Given the description of an element on the screen output the (x, y) to click on. 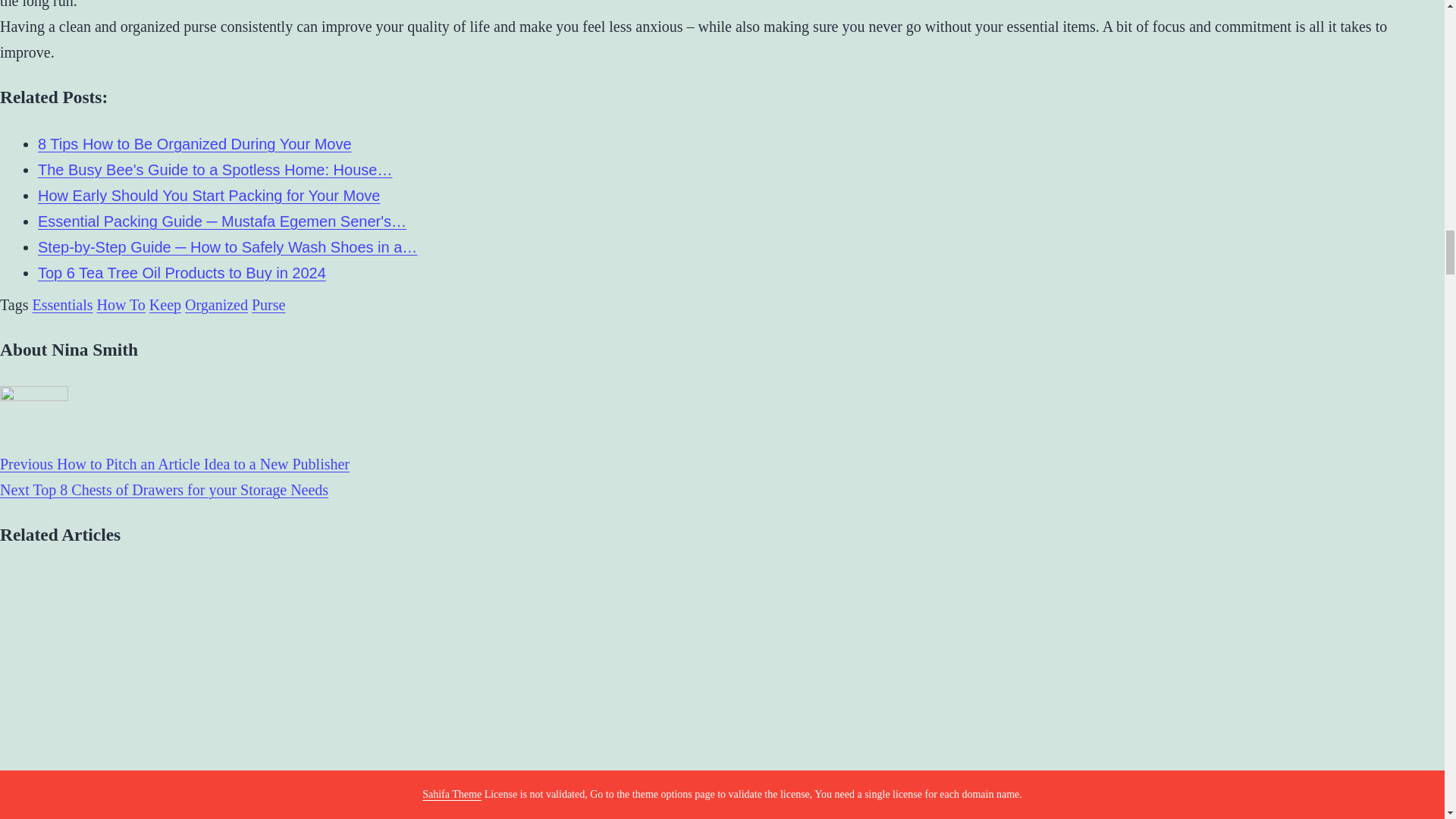
How Early Should You Start Packing for Your Move (208, 195)
Essentials (62, 304)
Keep (164, 304)
Top 6 Tea Tree Oil Products to Buy in 2024 (181, 272)
Organized (215, 304)
How To (120, 304)
8 Tips How to Be Organized During Your Move (194, 143)
